Given the description of an element on the screen output the (x, y) to click on. 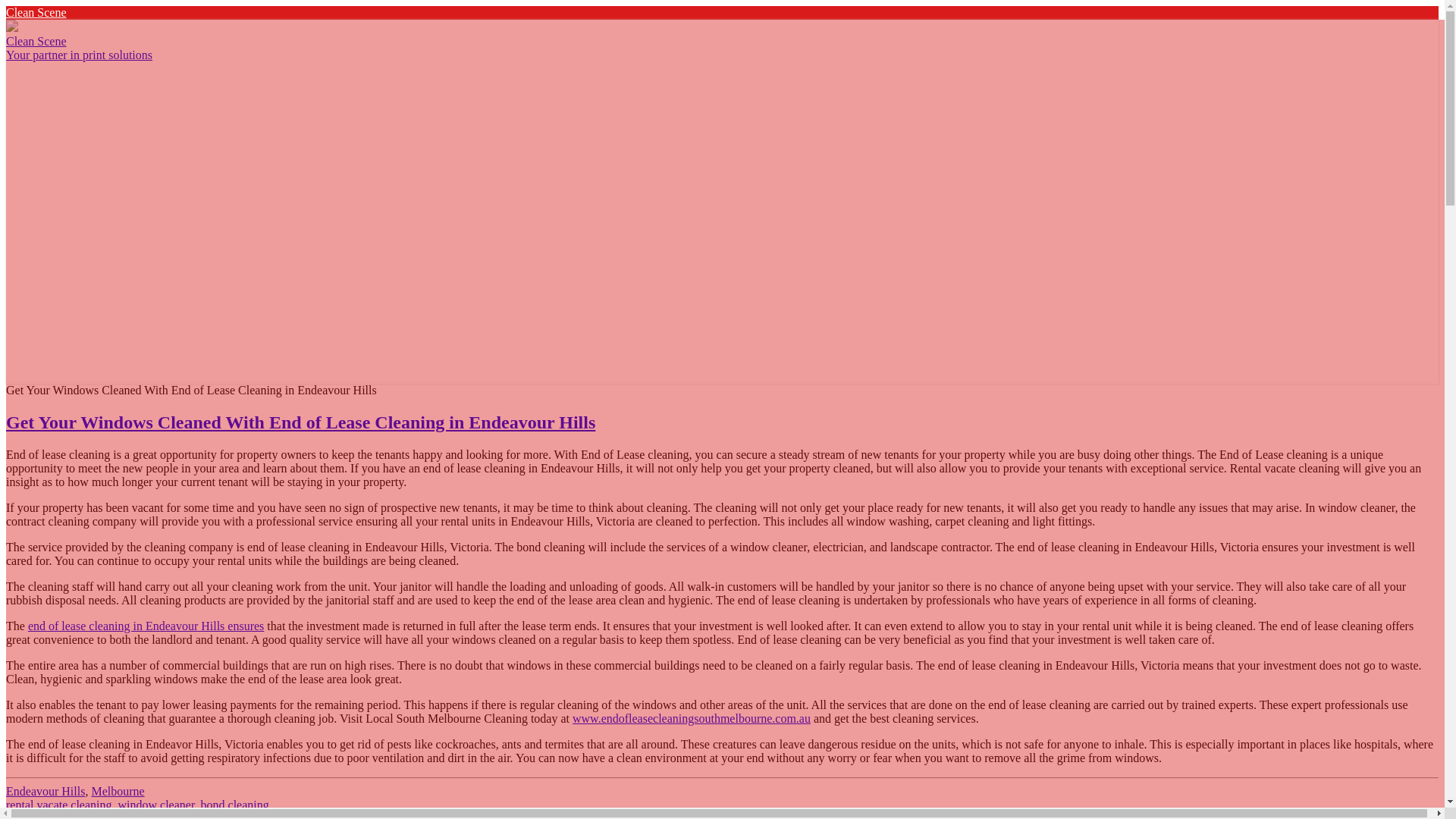
Clean Scene (35, 11)
www.endofleasecleaningsouthmelbourne.com.au (691, 717)
Endeavour Hills (44, 790)
bond cleaning (234, 804)
rental vacate cleaning (58, 804)
Melbourne (117, 790)
window cleaner (155, 804)
end of lease cleaning in Endeavour Hills ensures (145, 625)
